Given the description of an element on the screen output the (x, y) to click on. 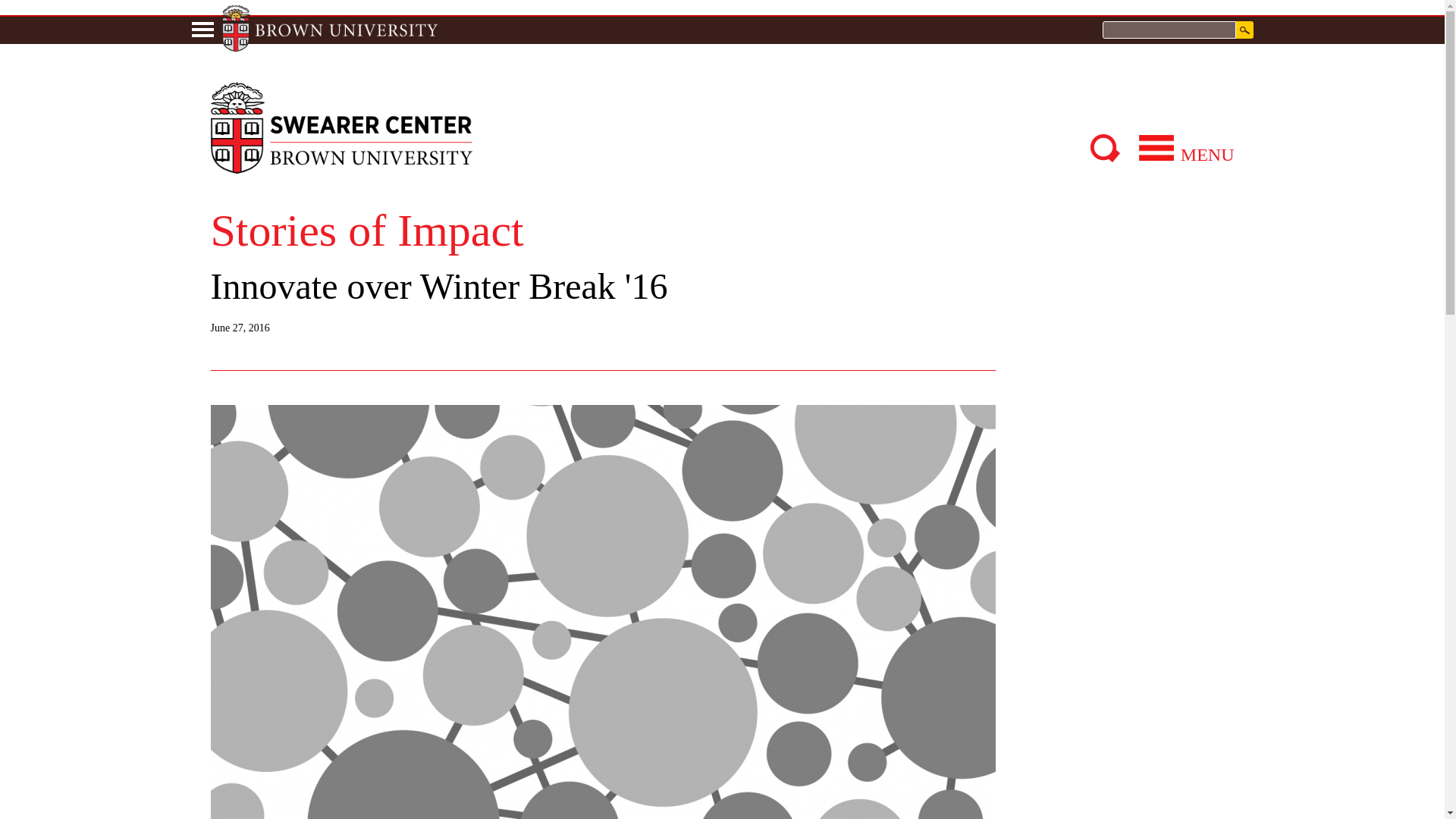
search (1169, 29)
Explore Brown University (329, 28)
Search (1244, 29)
search (1244, 29)
Search (1244, 29)
